Given the description of an element on the screen output the (x, y) to click on. 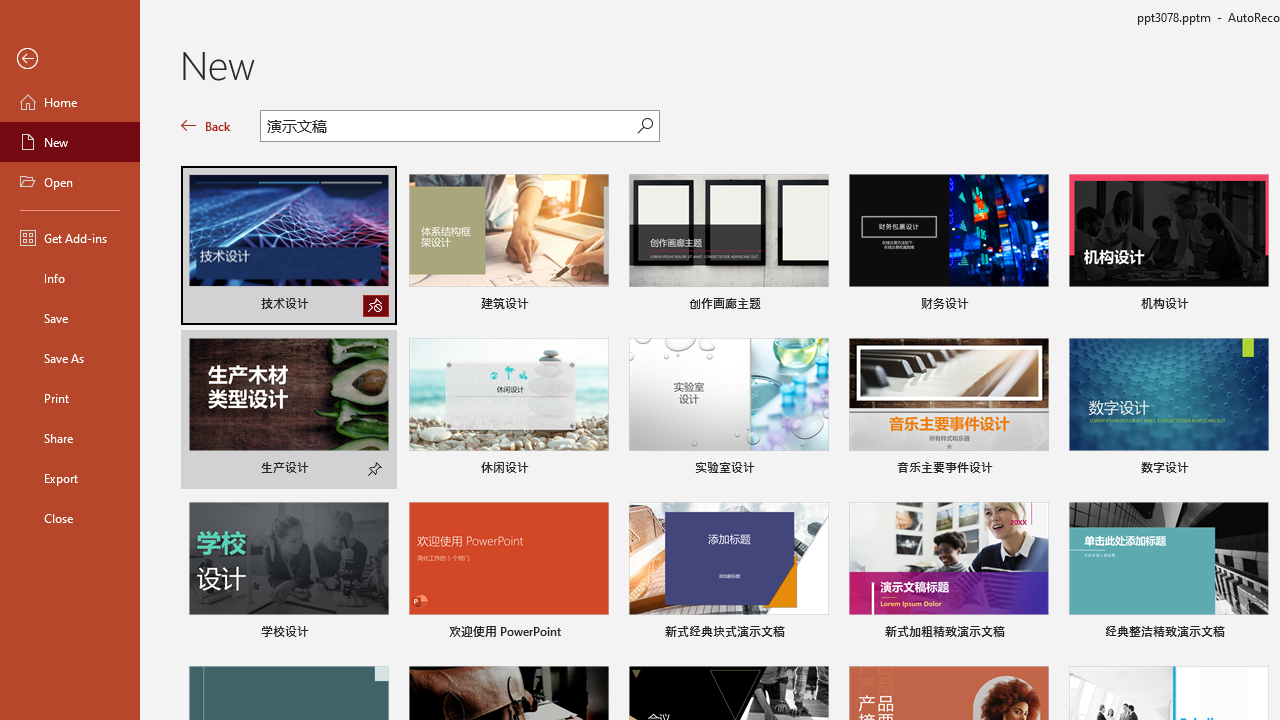
Get Add-ins (69, 237)
Export (69, 477)
Info (69, 277)
